Given the description of an element on the screen output the (x, y) to click on. 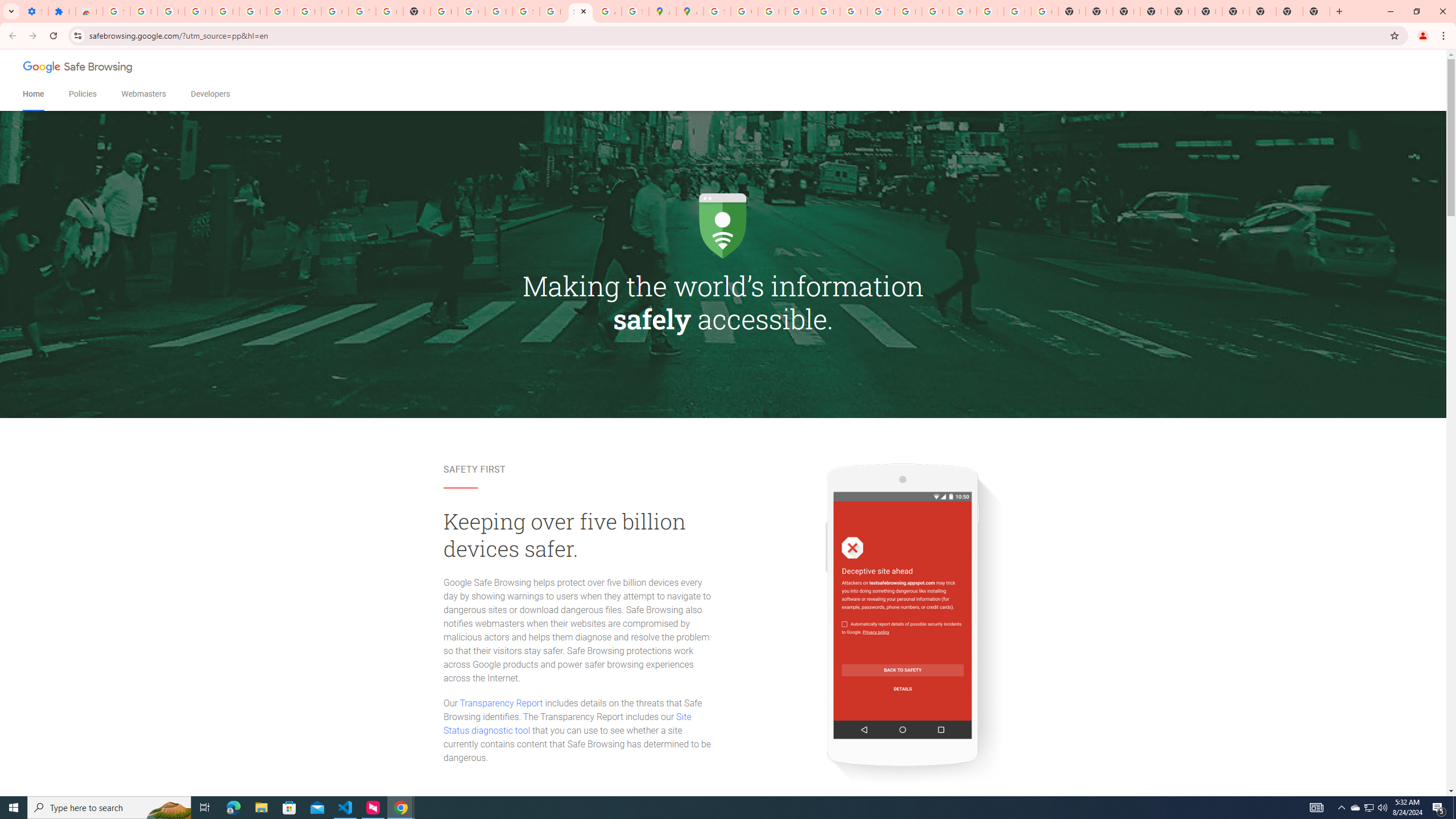
Sign in - Google Accounts (716, 11)
Policies (82, 94)
